Given the description of an element on the screen output the (x, y) to click on. 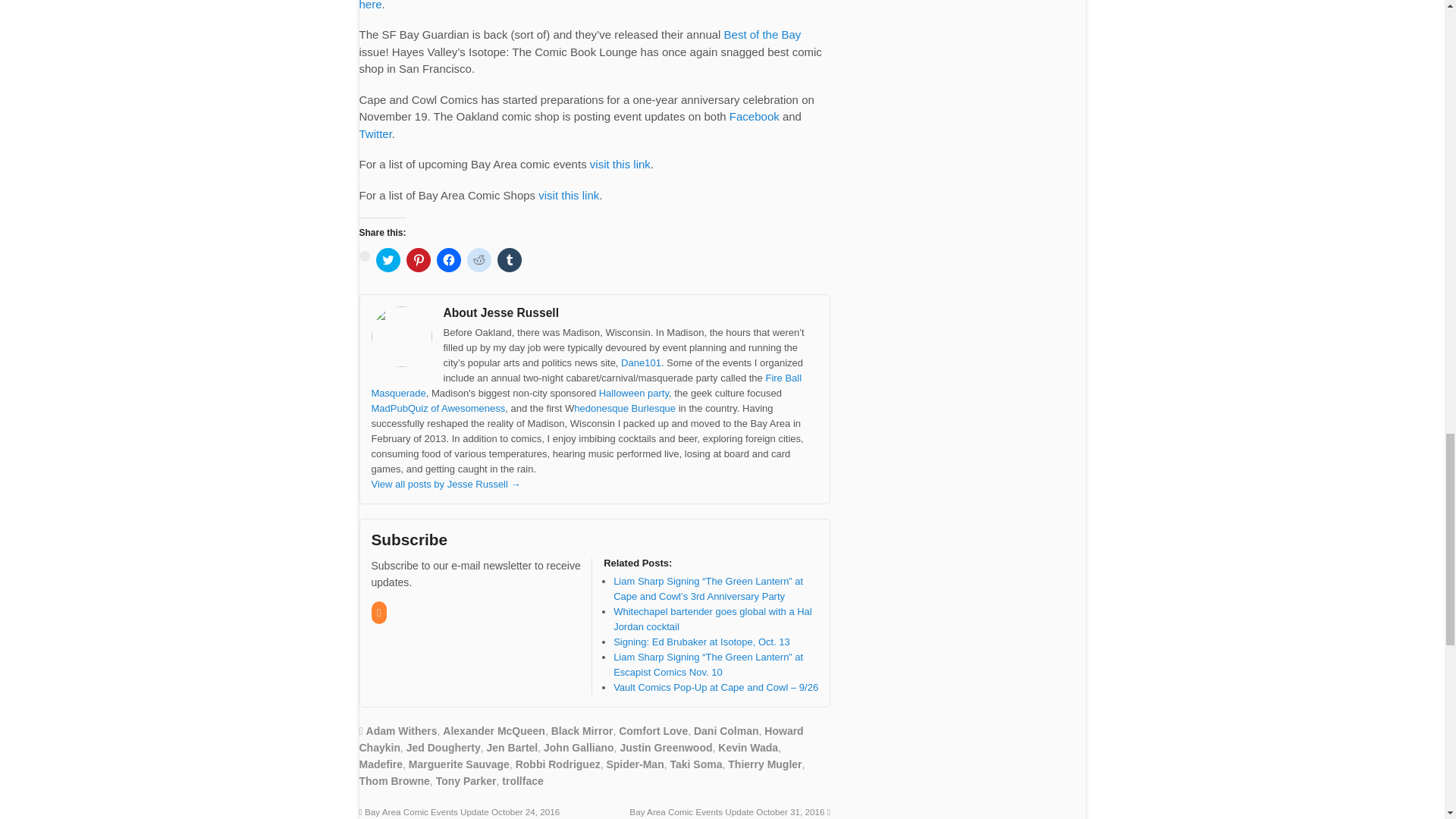
Click to share on Tumblr (509, 259)
Signing: Ed Brubaker at Isotope, Oct. 13 (701, 641)
Click to share on Reddit (479, 259)
Click to share on Twitter (387, 259)
The comprehensive list is here (590, 5)
Twitter (375, 133)
Facebook (753, 115)
RSS (379, 613)
Whitechapel bartender goes global with a Hal Jordan cocktail (712, 619)
Click to share on Facebook (448, 259)
Best of the Bay (762, 33)
Click to share on Pinterest (418, 259)
